Given the description of an element on the screen output the (x, y) to click on. 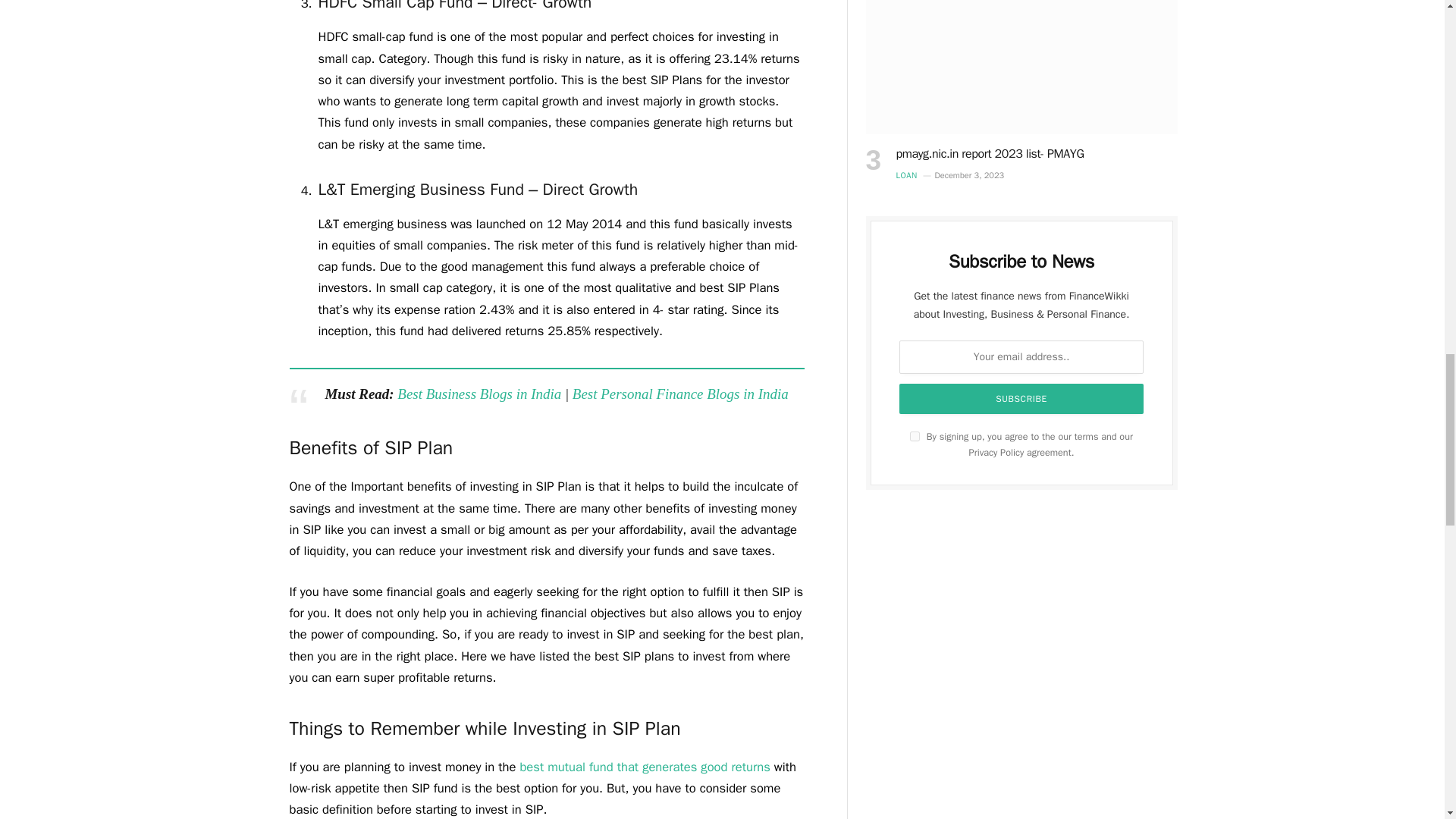
on (915, 436)
Subscribe (1020, 399)
